Given the description of an element on the screen output the (x, y) to click on. 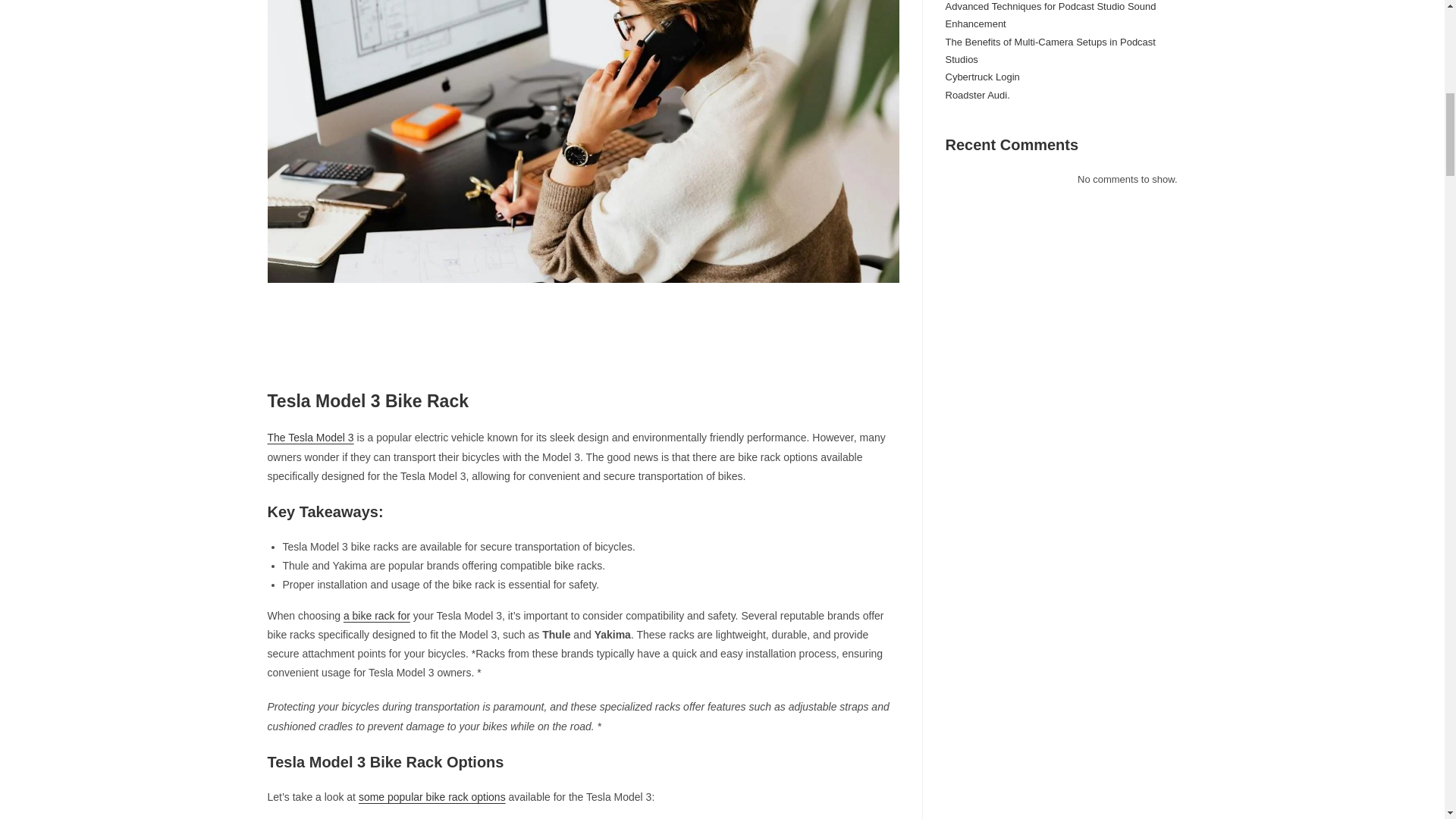
a bike rack for (376, 615)
some popular bike rack options (431, 797)
The Tesla Model 3 (309, 437)
